Given the description of an element on the screen output the (x, y) to click on. 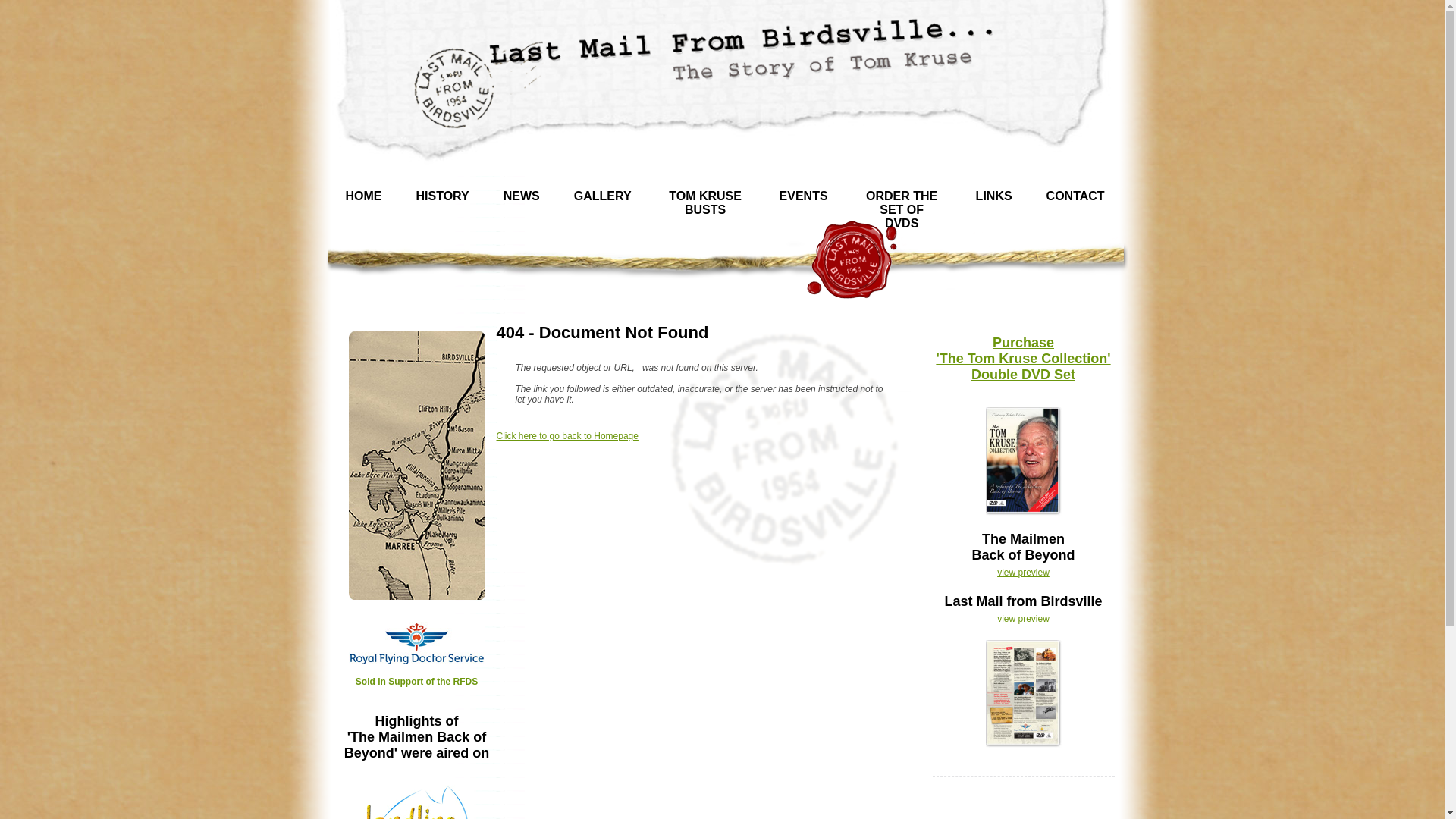
HOME Element type: text (369, 196)
Click here to go back to Homepage Element type: text (566, 435)
HISTORY Element type: text (447, 196)
NEWS Element type: text (527, 196)
ORDER THE SET OF DVDS Element type: text (907, 209)
view preview Element type: text (1023, 572)
view preview Element type: text (1023, 618)
GALLERY Element type: text (608, 196)
CONTACT Element type: text (1081, 196)
Purchase
'The Tom Kruse Collection'
Double DVD Set Element type: text (1022, 358)
EVENTS Element type: text (809, 196)
TOM KRUSE BUSTS Element type: text (710, 202)
LINKS Element type: text (999, 196)
